Given the description of an element on the screen output the (x, y) to click on. 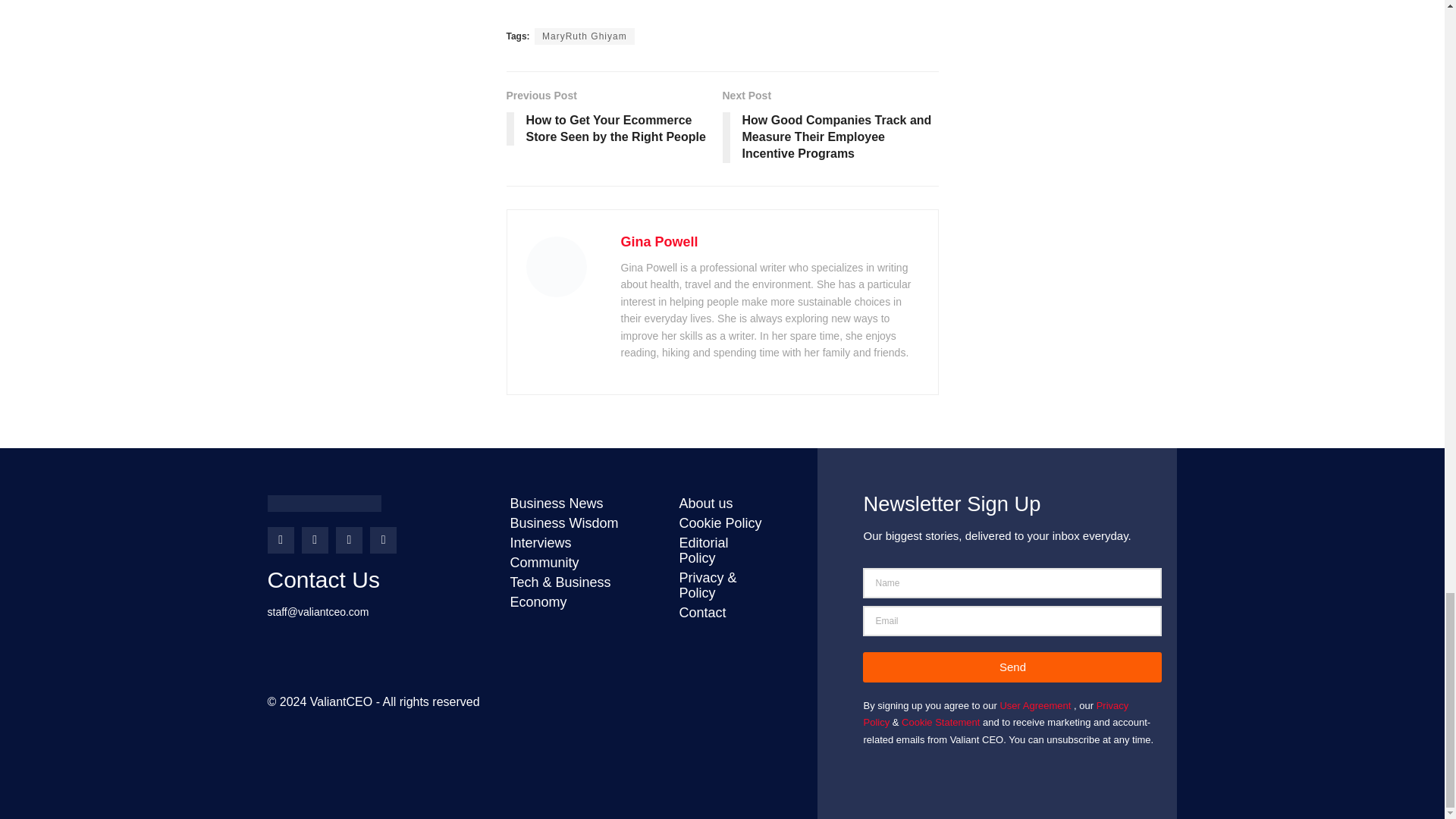
Gina Powell (658, 241)
MaryRuth Ghiyam (584, 36)
Business News (579, 503)
